Given the description of an element on the screen output the (x, y) to click on. 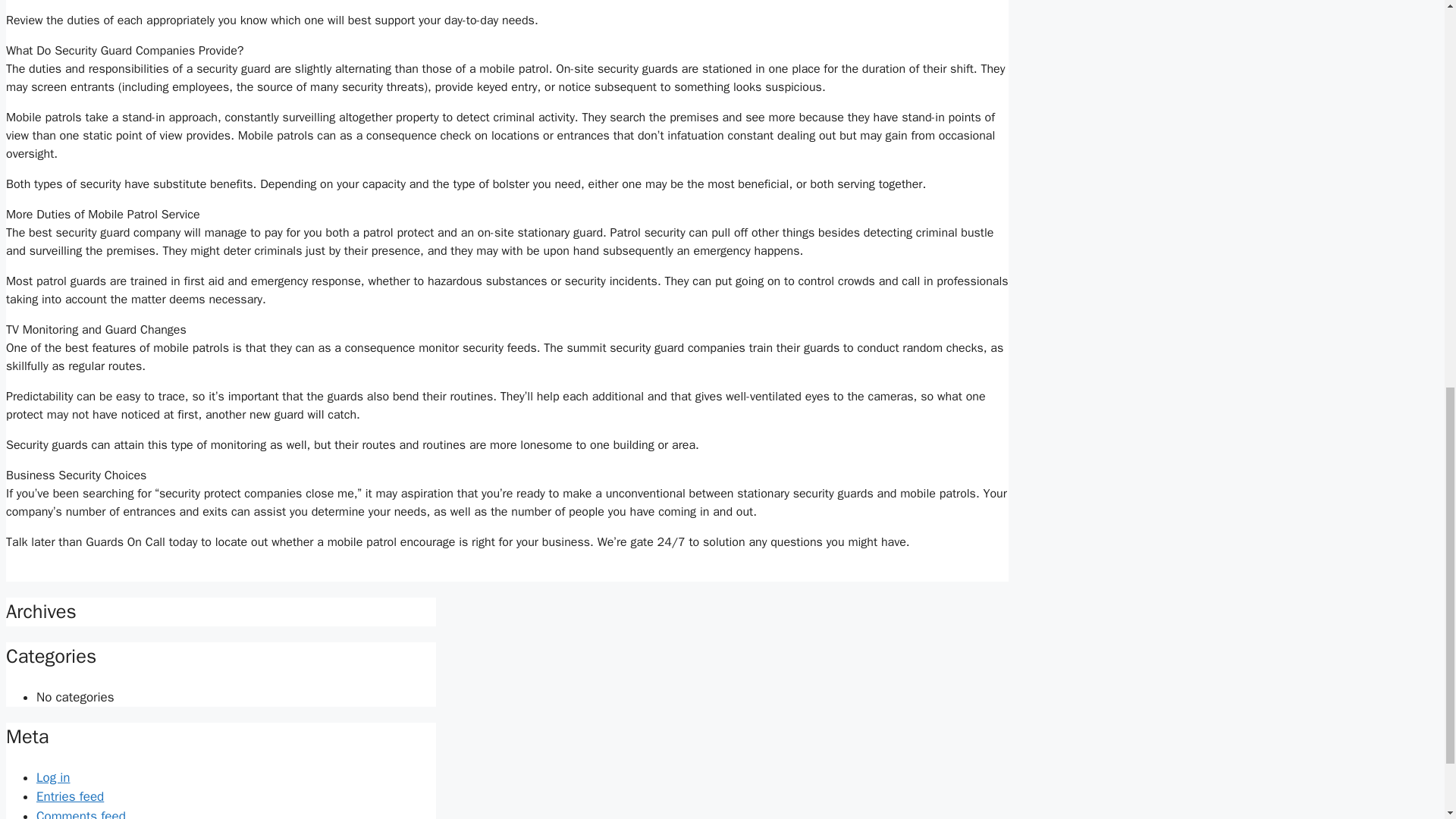
Comments feed (80, 813)
Log in (52, 777)
Entries feed (69, 796)
